Given the description of an element on the screen output the (x, y) to click on. 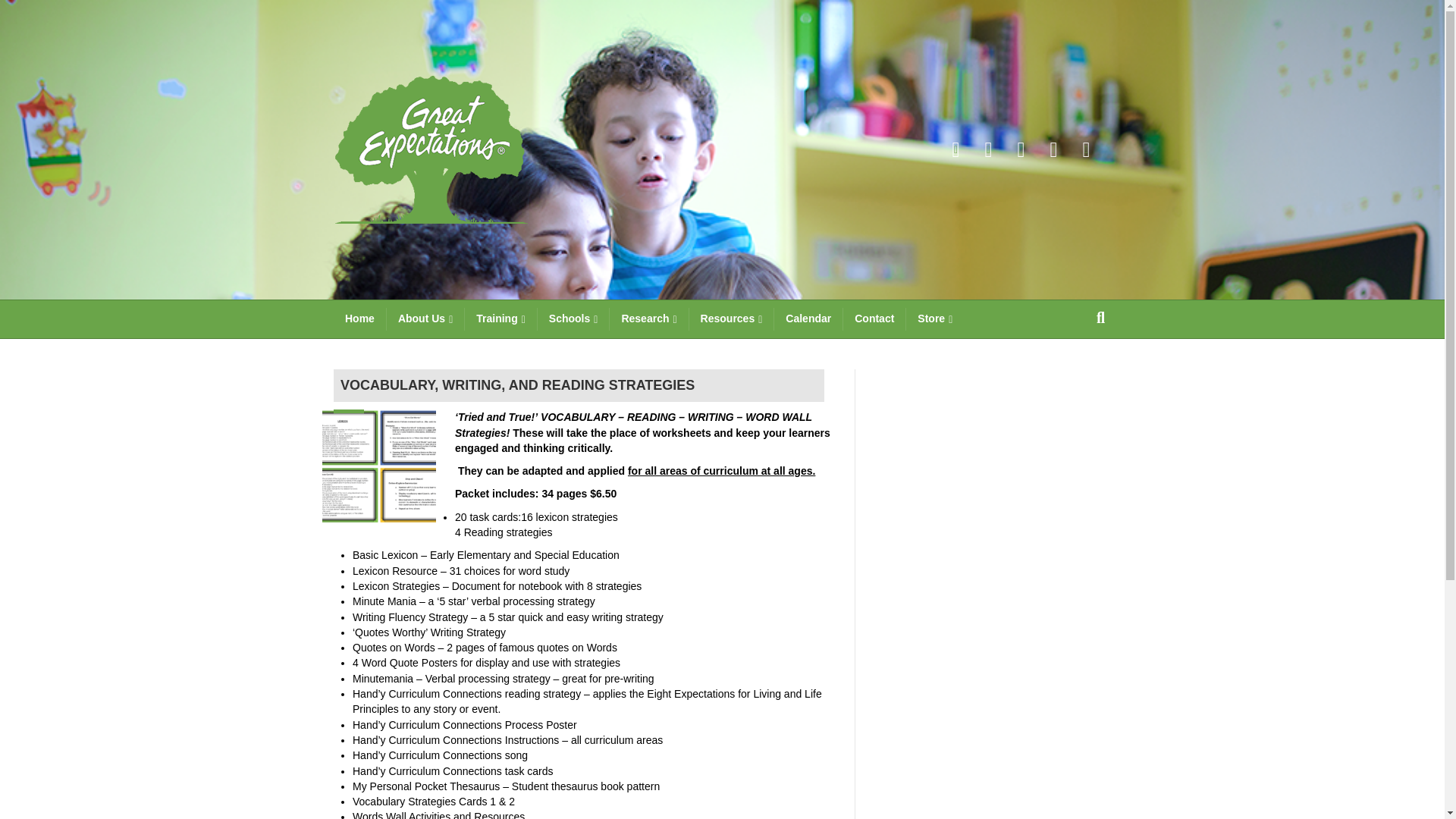
Twitter (988, 149)
Youtube (1054, 149)
Facebook (955, 149)
Home (360, 318)
Vocabulary, Writing, and Reading Strategies (378, 465)
Linkedin (1020, 149)
Instagram (1086, 149)
About Us (425, 318)
